Given the description of an element on the screen output the (x, y) to click on. 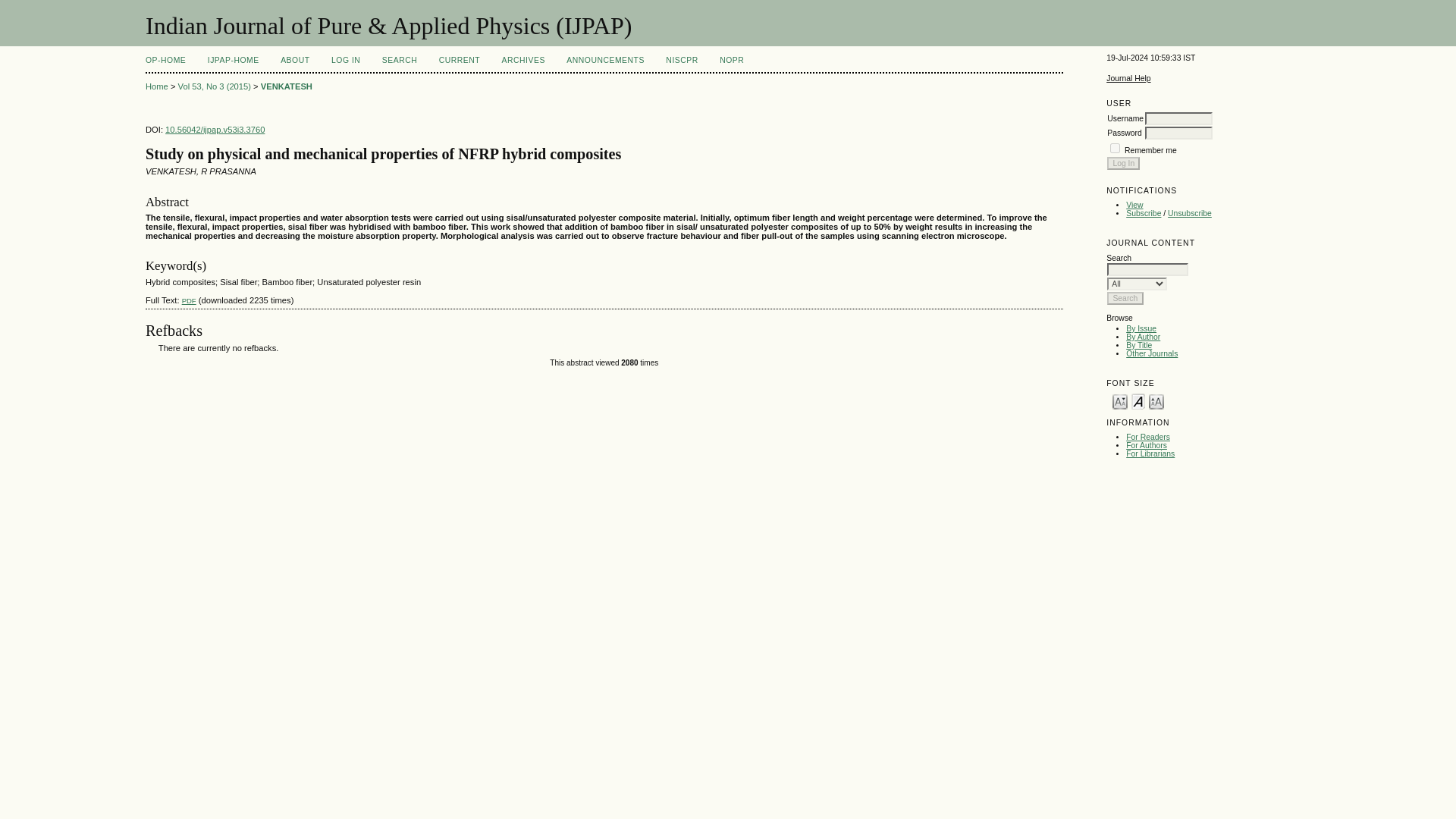
1 (1114, 148)
ANNOUNCEMENTS (605, 60)
Make font size smaller (1119, 400)
By Title (1138, 345)
PDF (189, 300)
Unsubscribe (1189, 213)
Make font size default (1138, 400)
Subscribe (1142, 213)
Log In (1123, 163)
LOG IN (345, 60)
View (1133, 204)
IJPAP-HOME (233, 60)
Other Journals (1151, 353)
Search (1124, 297)
Make font size larger (1155, 400)
